Given the description of an element on the screen output the (x, y) to click on. 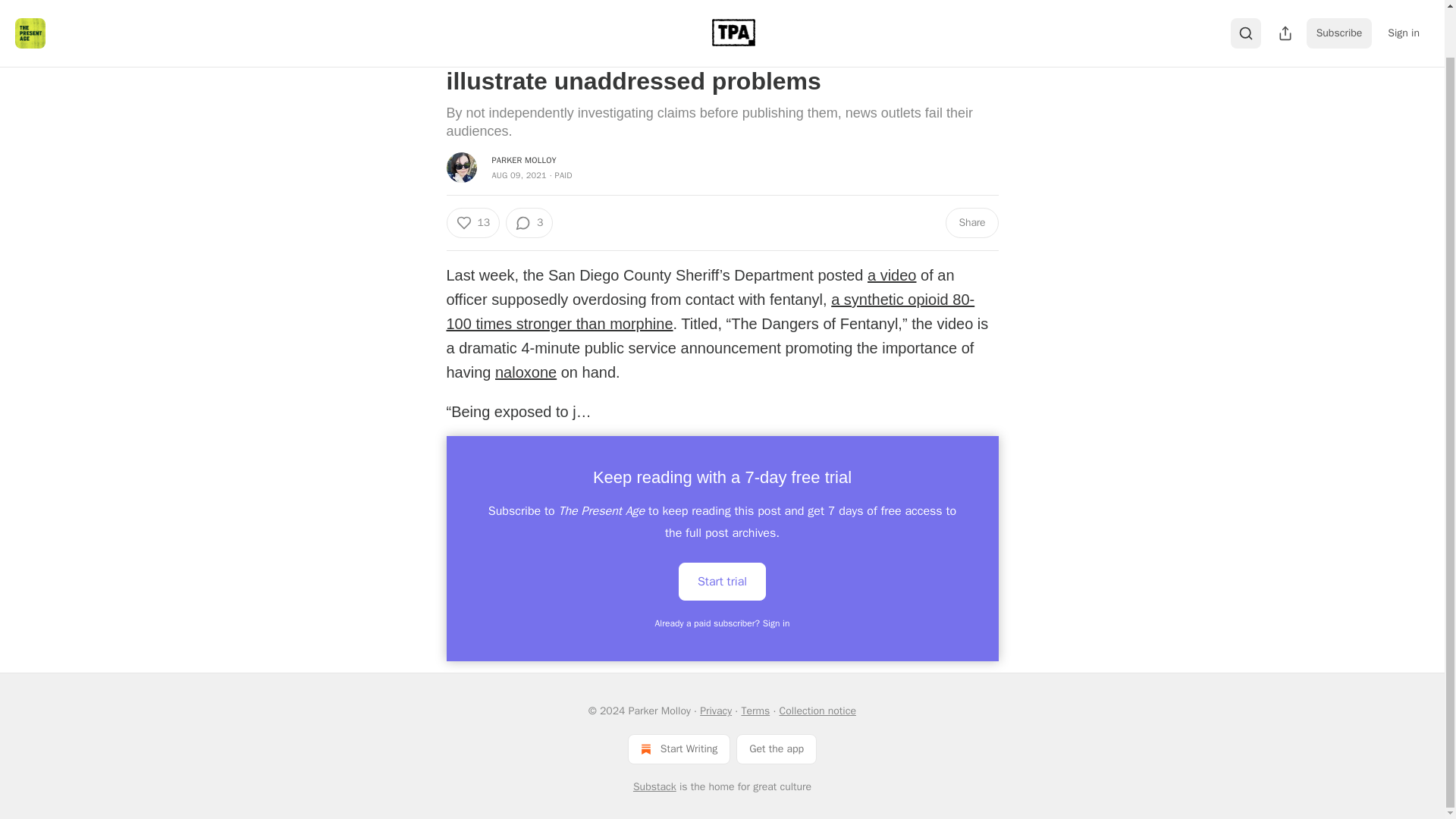
Start trial (721, 579)
naloxone (525, 371)
a synthetic opioid 80-100 times stronger than morphine (709, 311)
Share (970, 223)
PARKER MOLLOY (524, 159)
3 (529, 223)
Already a paid subscriber? Sign in (722, 623)
a video (892, 274)
Start Writing (678, 748)
Substack (655, 786)
Get the app (776, 748)
Start trial (721, 581)
Privacy (716, 710)
Terms (755, 710)
Collection notice (817, 710)
